Given the description of an element on the screen output the (x, y) to click on. 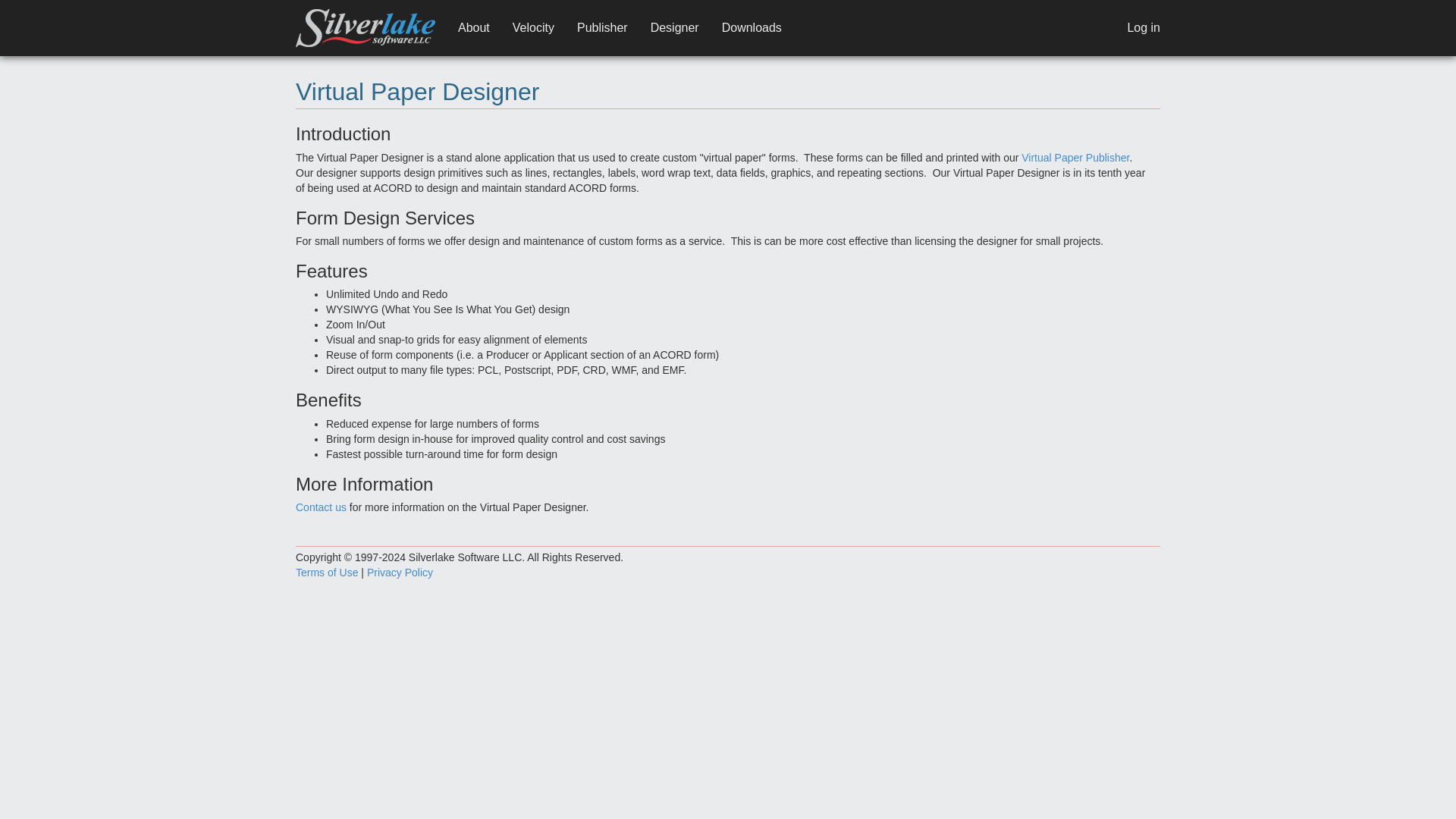
Privacy Policy (399, 572)
Log in (1143, 27)
About (473, 27)
Downloads (751, 27)
Publisher (602, 27)
Terms of Use (326, 572)
Virtual Paper Publisher (1075, 157)
Designer (674, 27)
Contact us (320, 507)
Velocity (533, 27)
